Given the description of an element on the screen output the (x, y) to click on. 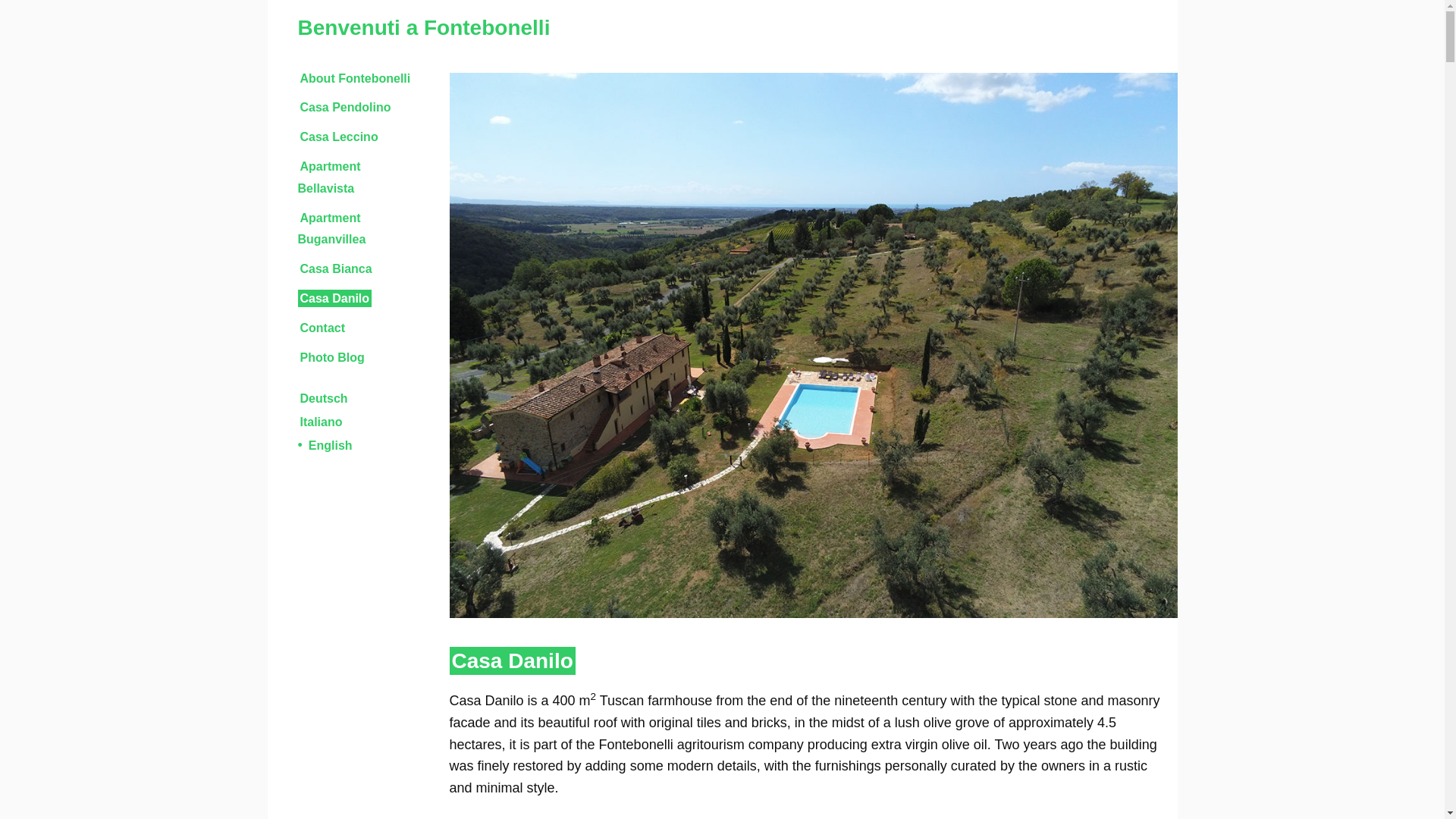
Benvenuti a Fontebonelli (423, 27)
